Given the description of an element on the screen output the (x, y) to click on. 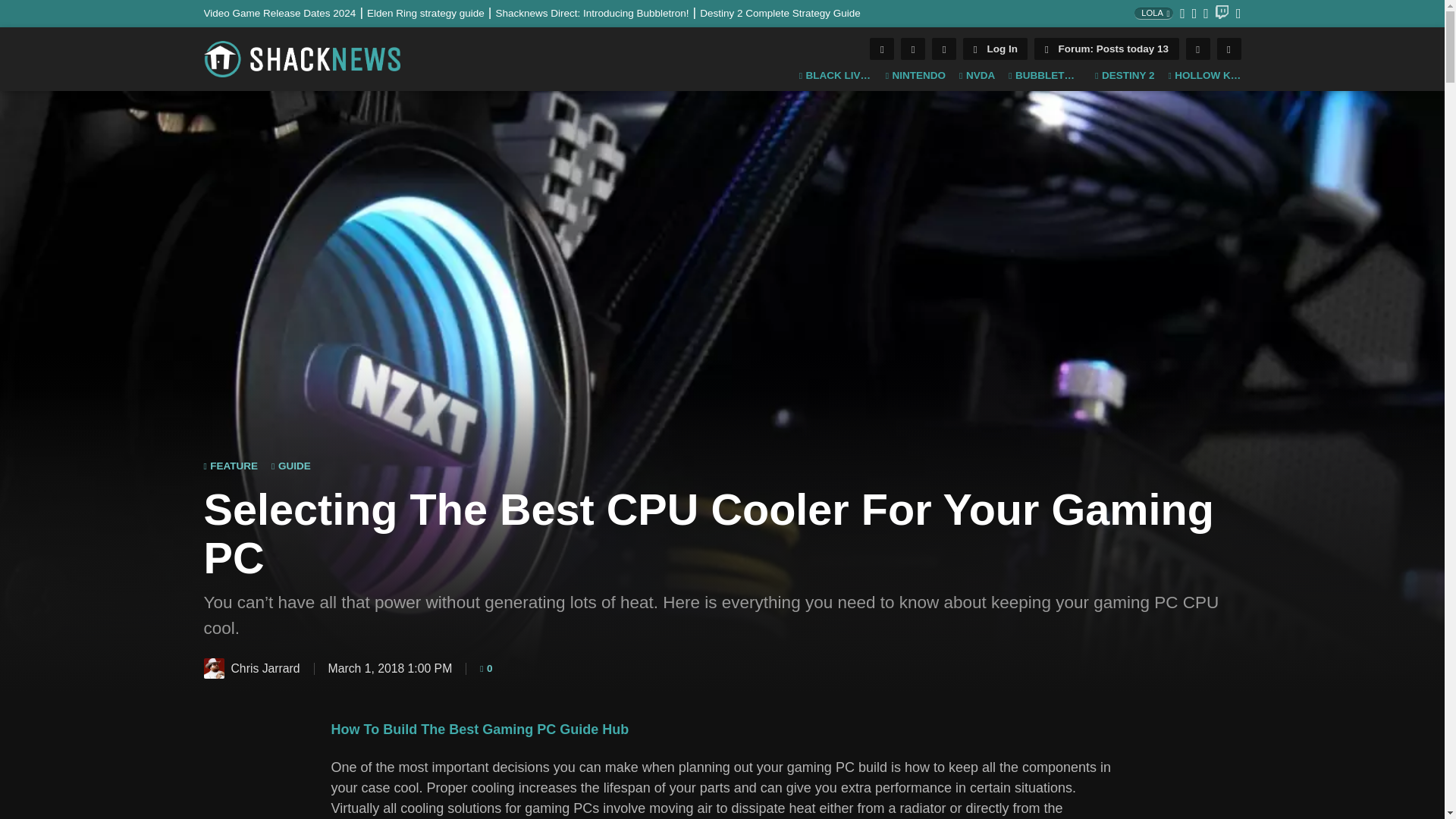
BLACK LIVES MATTER (835, 75)
DESTINY 2 (1124, 75)
FEATURE (230, 466)
Destiny 2 Complete Strategy Guide (780, 11)
GUIDE (290, 466)
HOLLOW KNIGHT: SILKSONG (1203, 75)
BUBBLETRON (1045, 75)
Elden Ring strategy guide (430, 11)
NVDA (976, 75)
NINTENDO (914, 75)
